Given the description of an element on the screen output the (x, y) to click on. 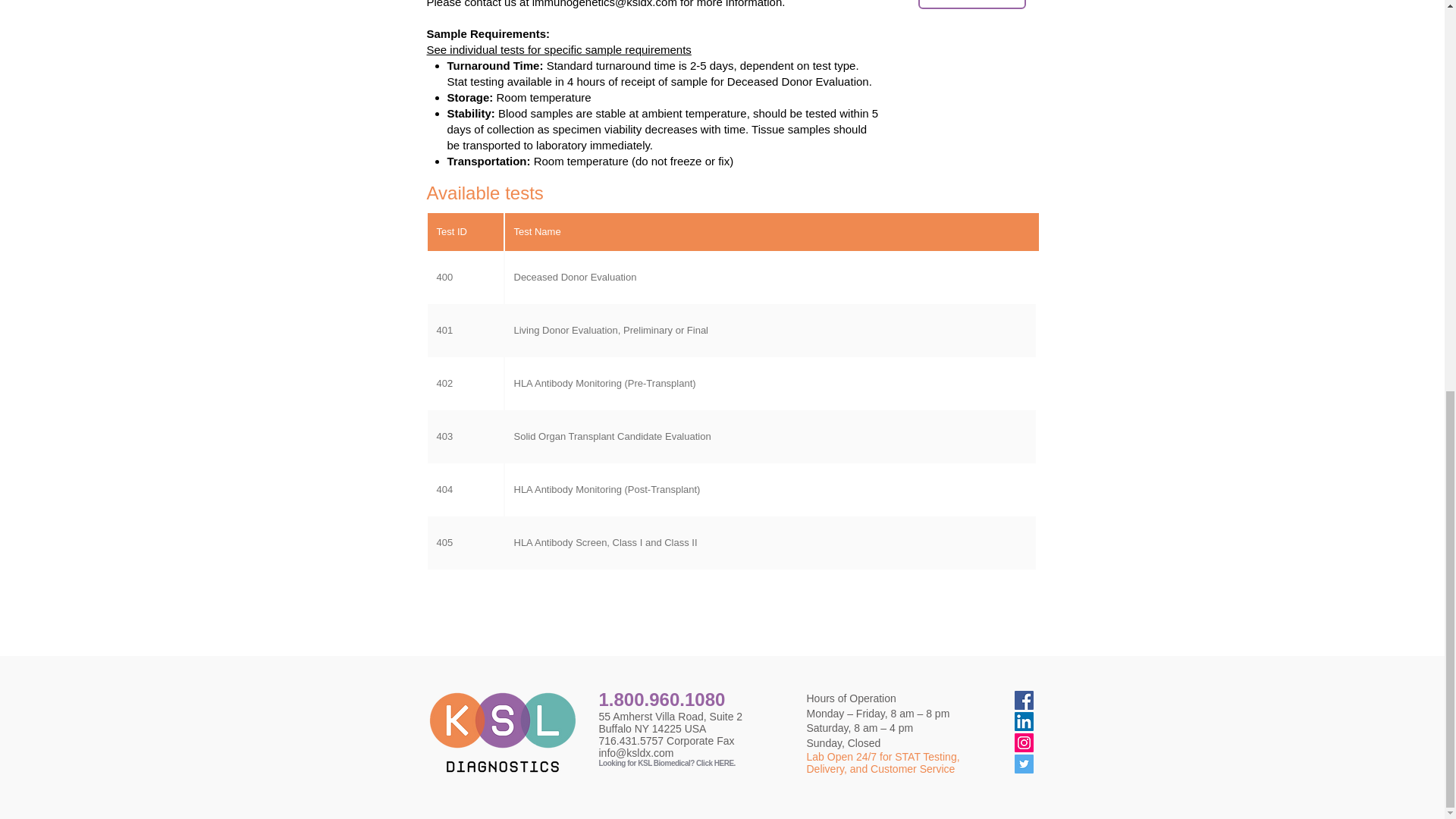
401 (465, 330)
Deceased Donor Evaluation (770, 276)
400 (465, 276)
Tests 401-404 (971, 4)
Living Donor Evaluation, Preliminary or Final (770, 330)
